Given the description of an element on the screen output the (x, y) to click on. 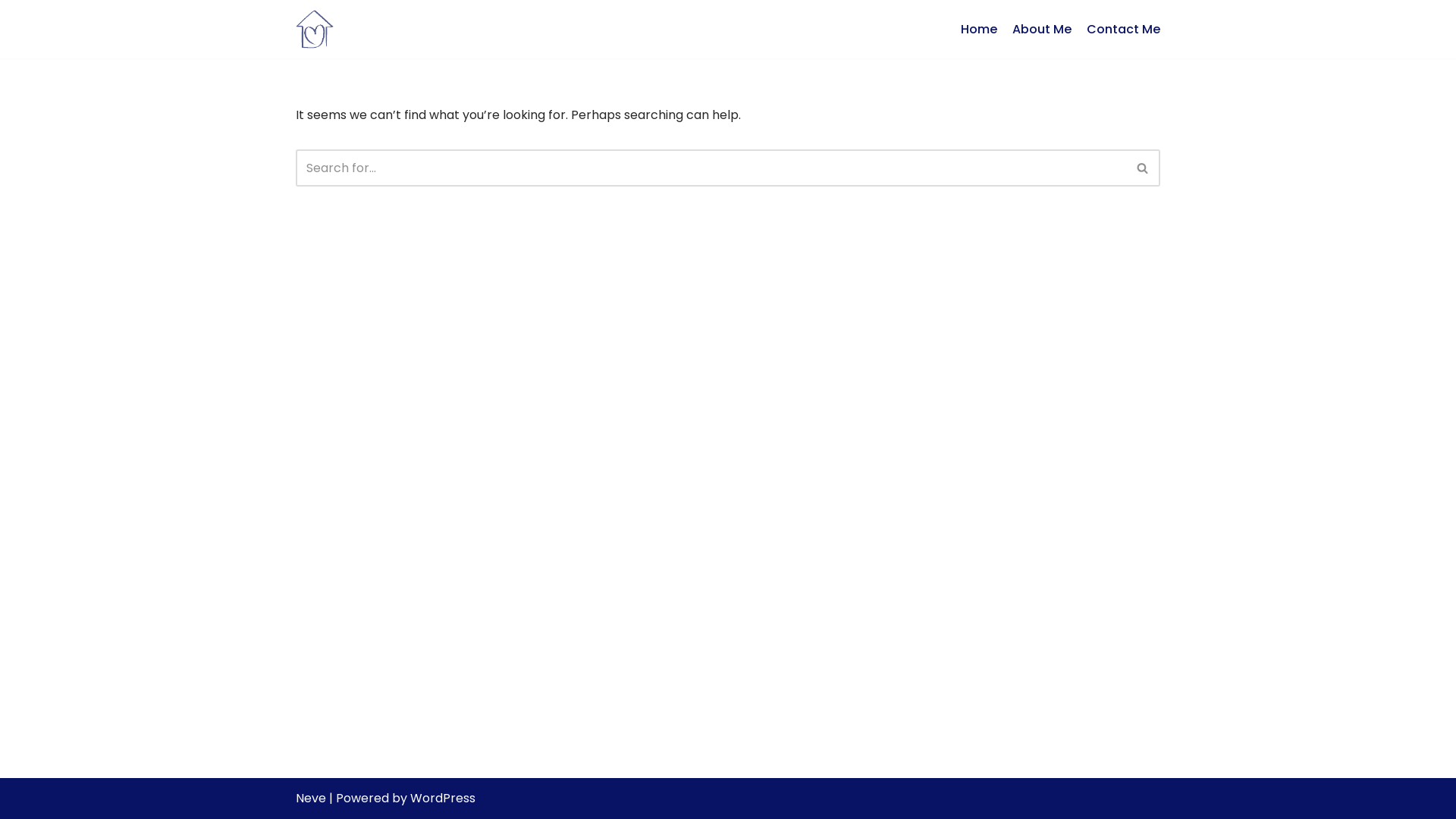
Contact Me Element type: text (1123, 29)
Skip to content Element type: text (11, 31)
Home Element type: text (978, 29)
A Healthy Home Element type: hover (314, 28)
Neve Element type: text (310, 797)
About Me Element type: text (1041, 29)
WordPress Element type: text (442, 797)
